Given the description of an element on the screen output the (x, y) to click on. 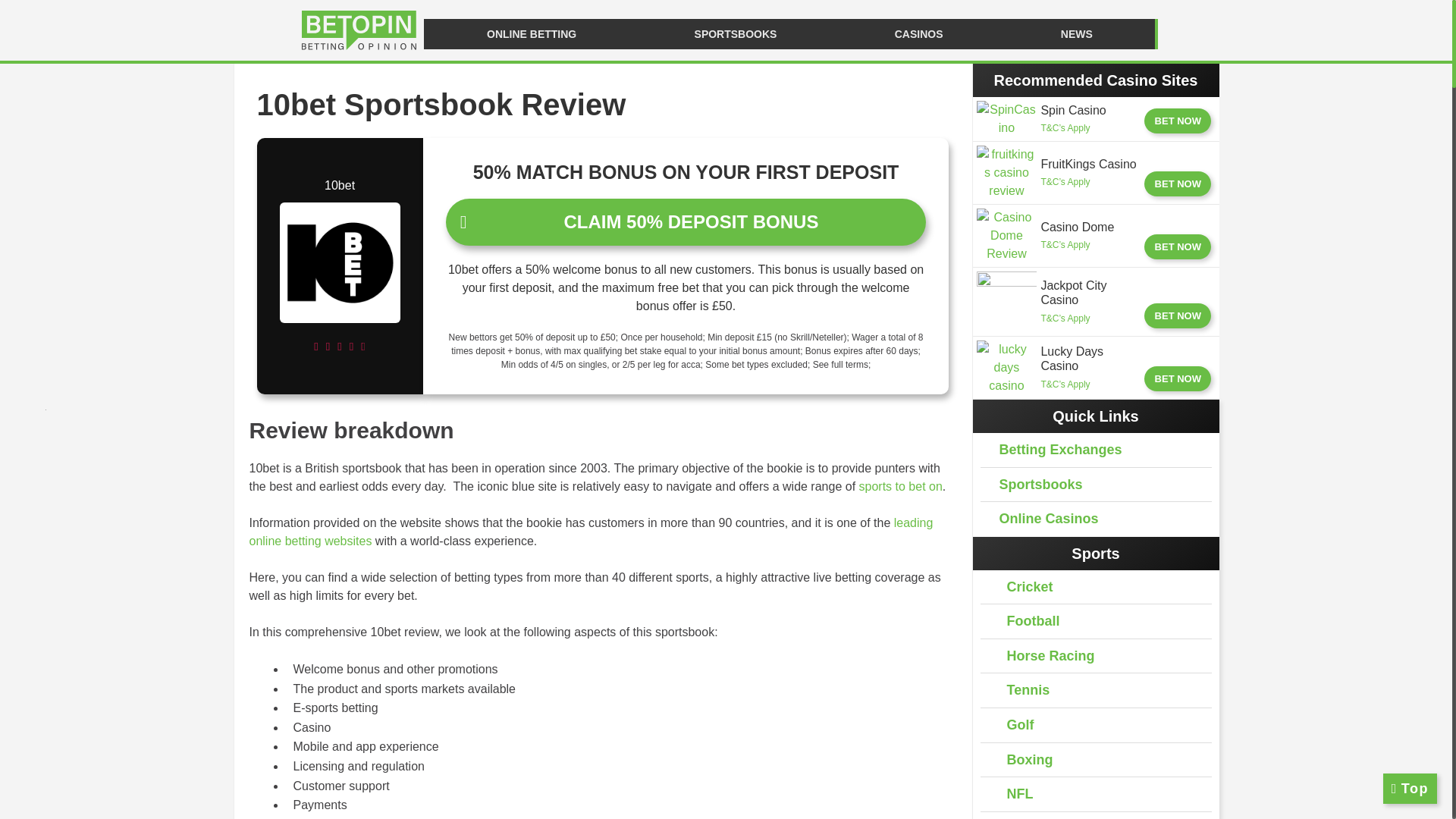
SPORTSBOOKS (731, 33)
CASINOS (914, 33)
ONLINE BETTING (527, 33)
